Given the description of an element on the screen output the (x, y) to click on. 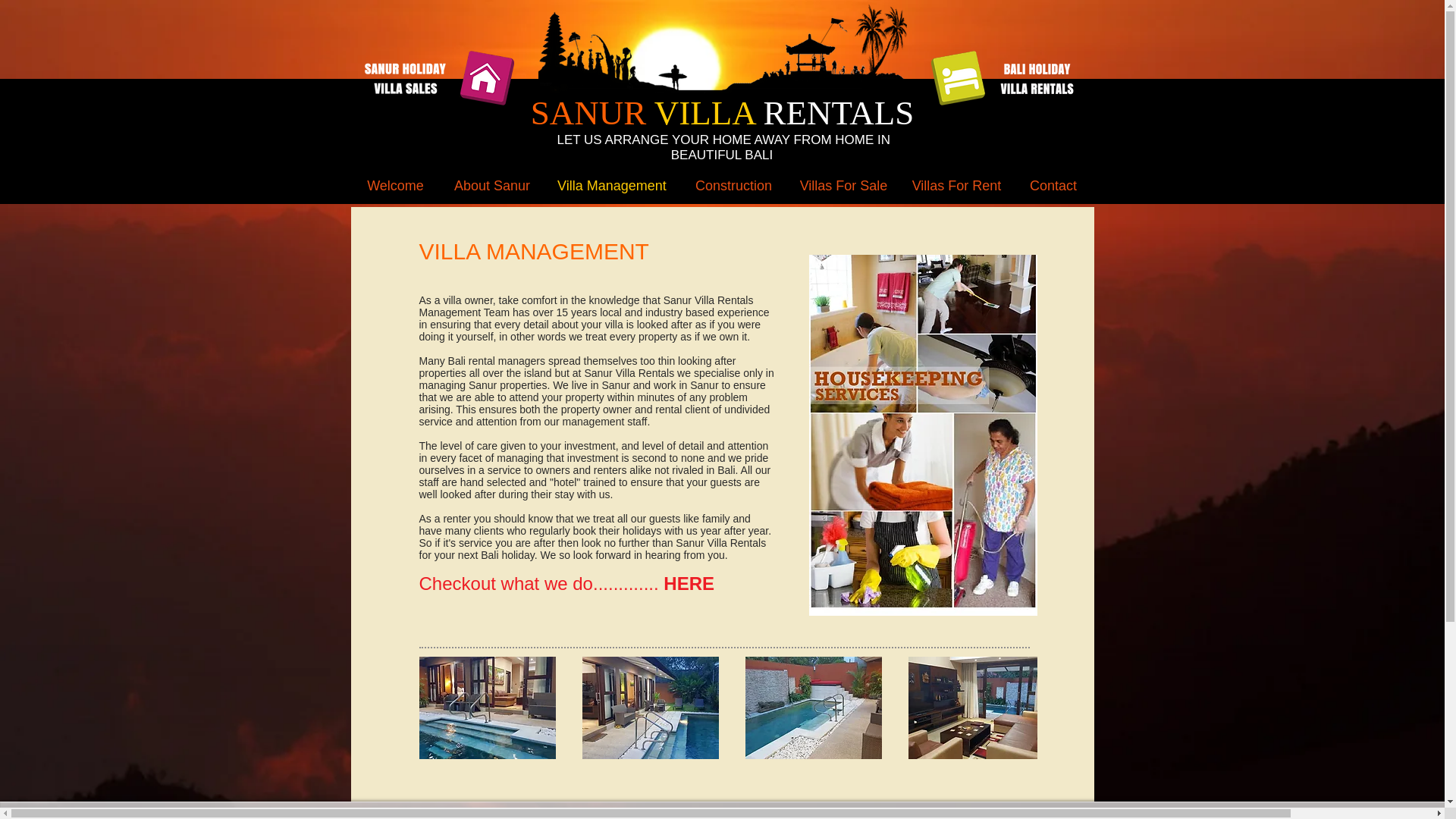
Construction (733, 186)
LOGO-VILLA1.png (1012, 77)
Checkout what we do............. HERE (566, 583)
Contact (1053, 186)
Welcome (394, 186)
Villas For Sale (843, 186)
LOGO-VILLA1.png (431, 77)
Villa Management (611, 186)
Embedded Content (1009, 816)
Villas For Rent (956, 186)
